Given the description of an element on the screen output the (x, y) to click on. 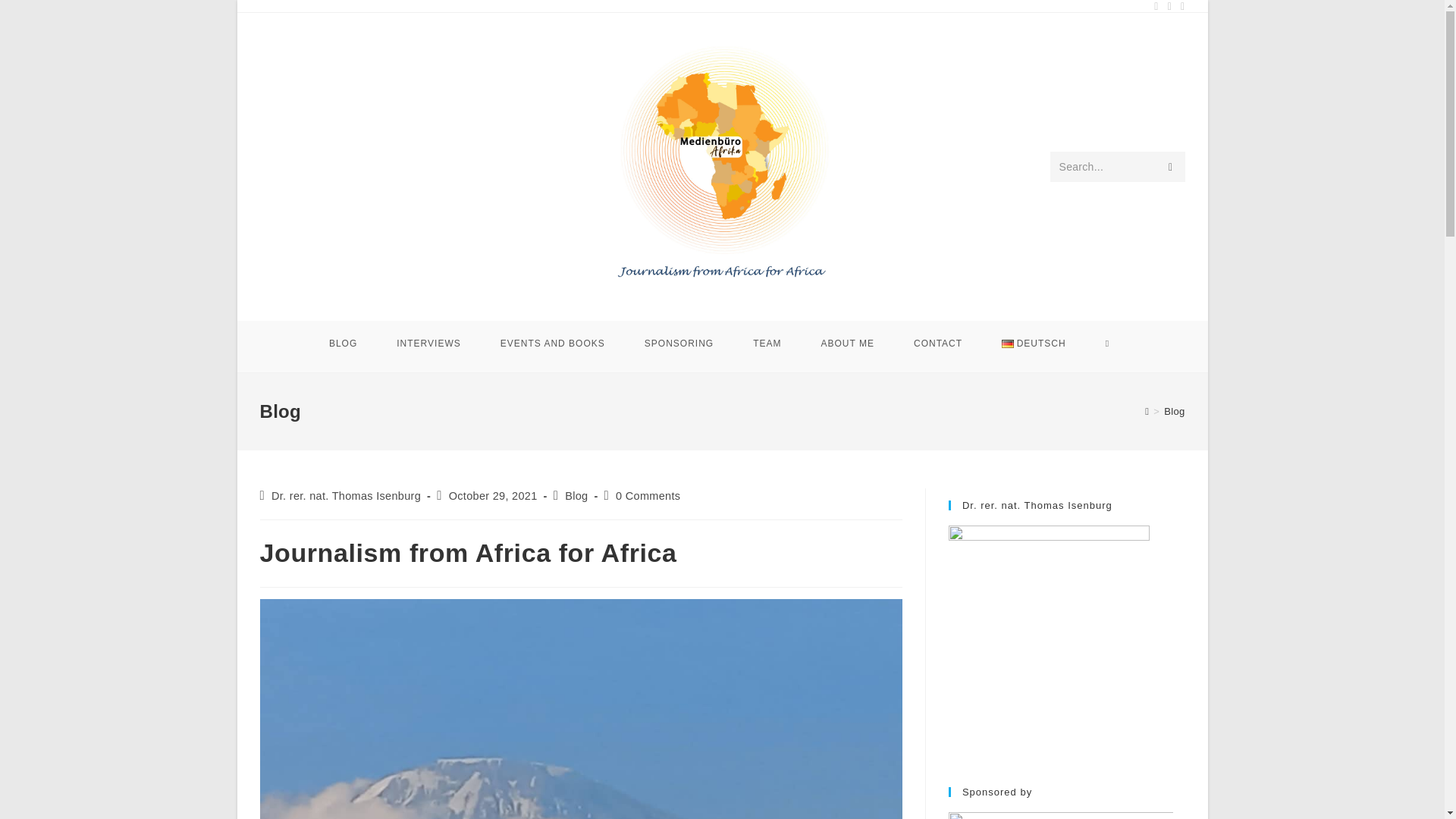
DEUTSCH (1034, 343)
EVENTS AND BOOKS (552, 343)
Blog (1174, 410)
Posts by Dr. rer. nat. Thomas Isenburg (345, 495)
INTERVIEWS (428, 343)
CONTACT (937, 343)
Blog (576, 495)
SPONSORING (678, 343)
BLOG (343, 343)
